Given the description of an element on the screen output the (x, y) to click on. 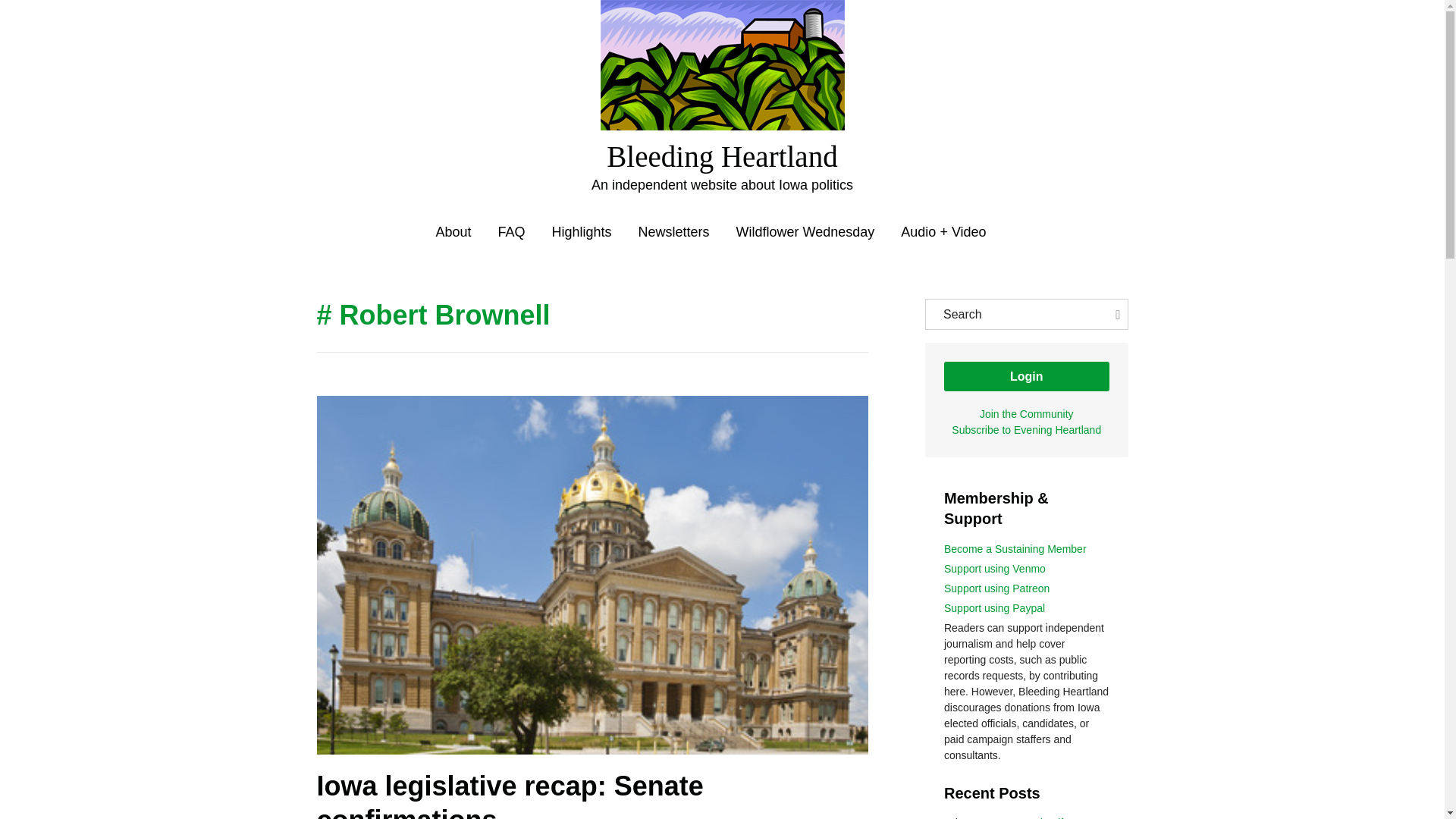
So what if Trump was hit by shrapnel? (1019, 817)
About (452, 231)
Highlights (581, 231)
Join the Community (1026, 413)
Wildflower Wednesday (805, 231)
Become a Sustaining Member (1014, 548)
Subscribe to Evening Heartland (1026, 429)
Support using Patreon (996, 588)
Iowa legislative recap: Senate confirmations (510, 794)
Login (1026, 376)
Newsletters (674, 231)
Support using Venmo (994, 568)
Support using Paypal (994, 607)
FAQ (510, 231)
